Given the description of an element on the screen output the (x, y) to click on. 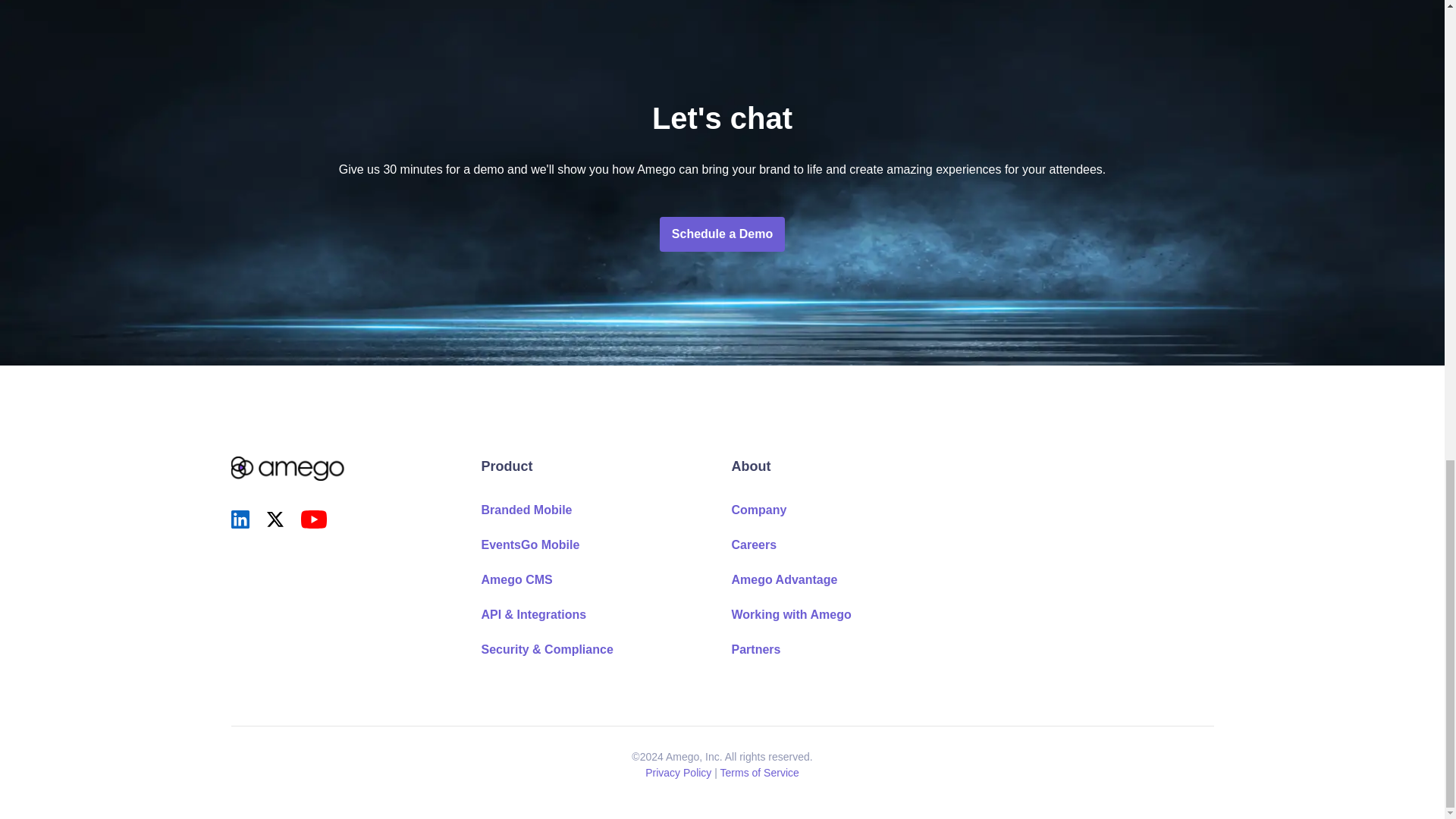
Amego Advantage (783, 579)
Working with Amego (790, 614)
Partners (755, 649)
Amego CMS (515, 579)
Branded Mobile (526, 509)
EventsGo Mobile (529, 544)
Company (758, 509)
Careers (753, 544)
Schedule a Demo (721, 234)
